Given the description of an element on the screen output the (x, y) to click on. 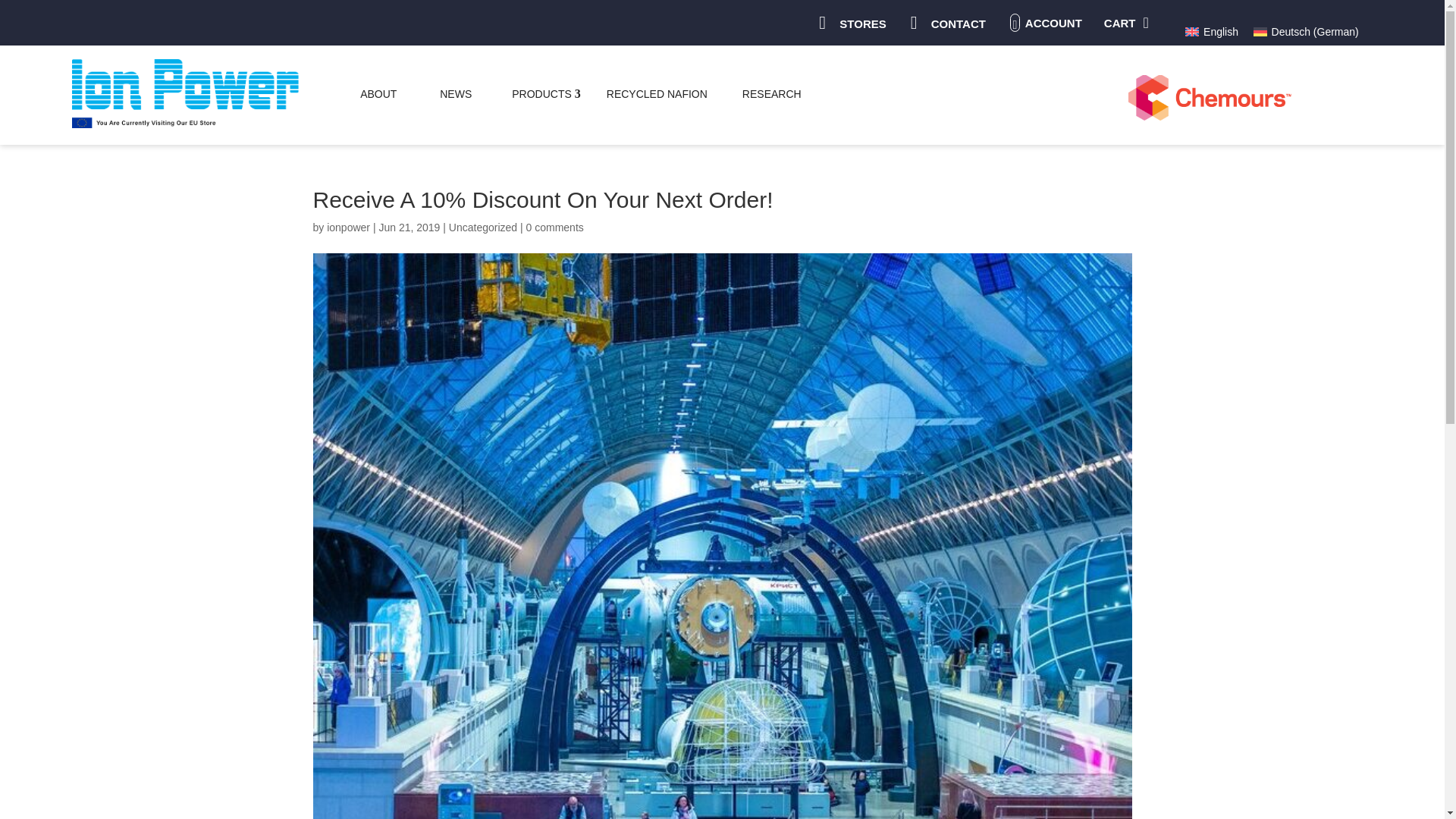
STORES (862, 22)
PRODUCTS (541, 93)
RESEARCH (771, 93)
ACCOUNT (1053, 22)
CONTACT (958, 22)
CART (1119, 22)
2560px-Chemours.svg (1209, 97)
ABOUT (378, 93)
NEWS (455, 93)
English (1211, 31)
